Given the description of an element on the screen output the (x, y) to click on. 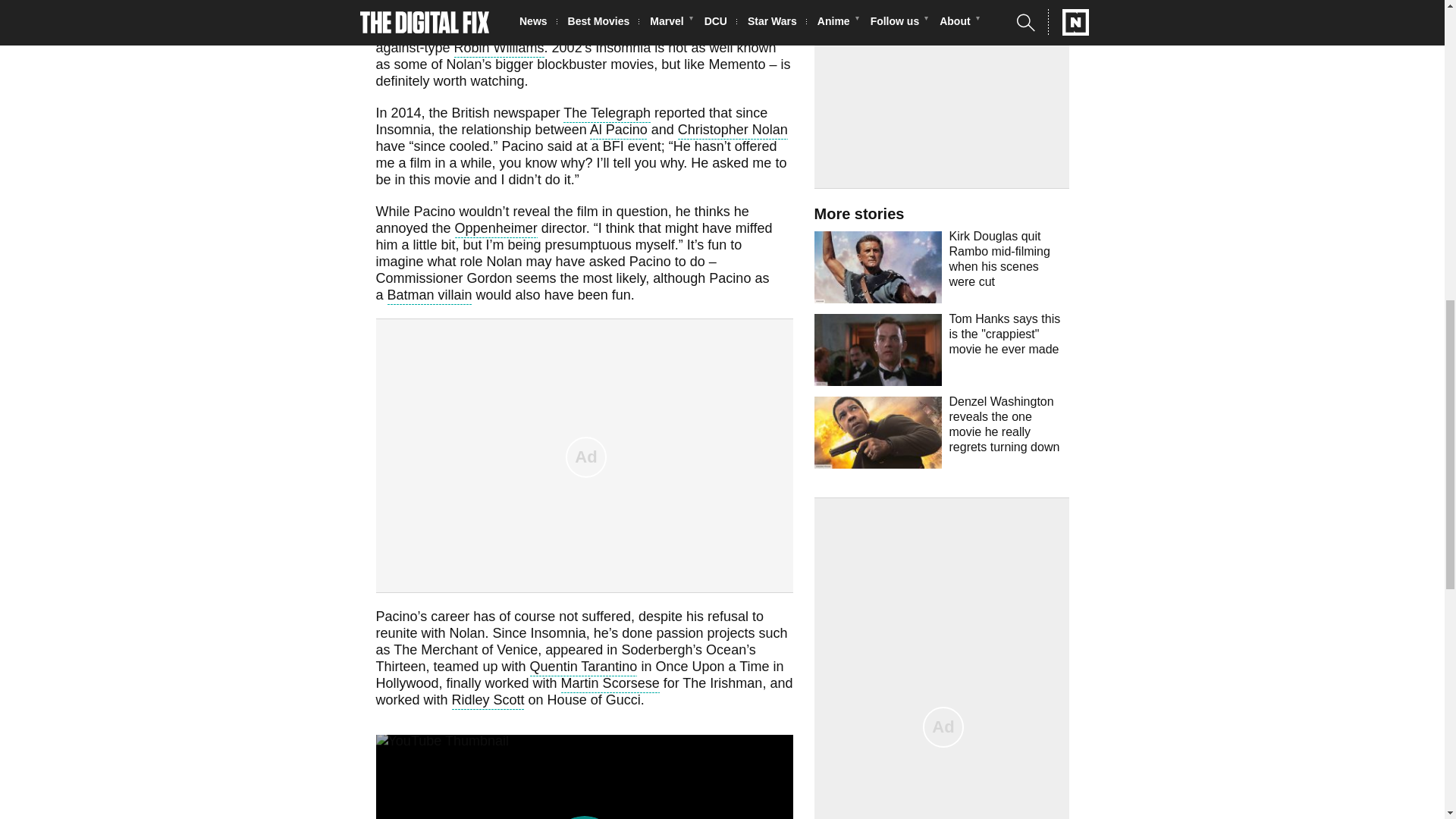
thriller movie (540, 32)
The Telegraph (606, 114)
Robin Williams (499, 49)
